Given the description of an element on the screen output the (x, y) to click on. 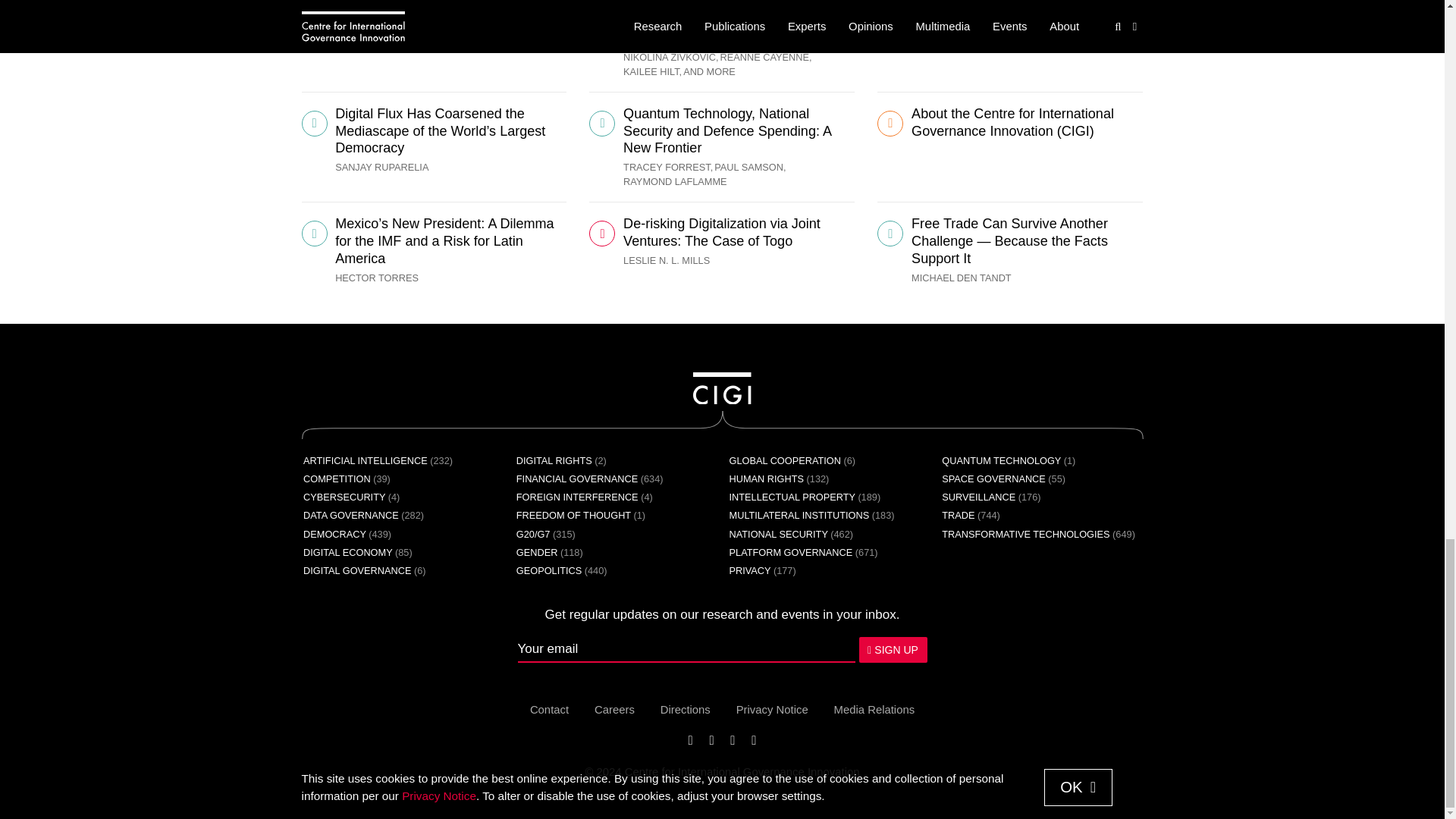
Newsletter Sign Up (721, 649)
